Given the description of an element on the screen output the (x, y) to click on. 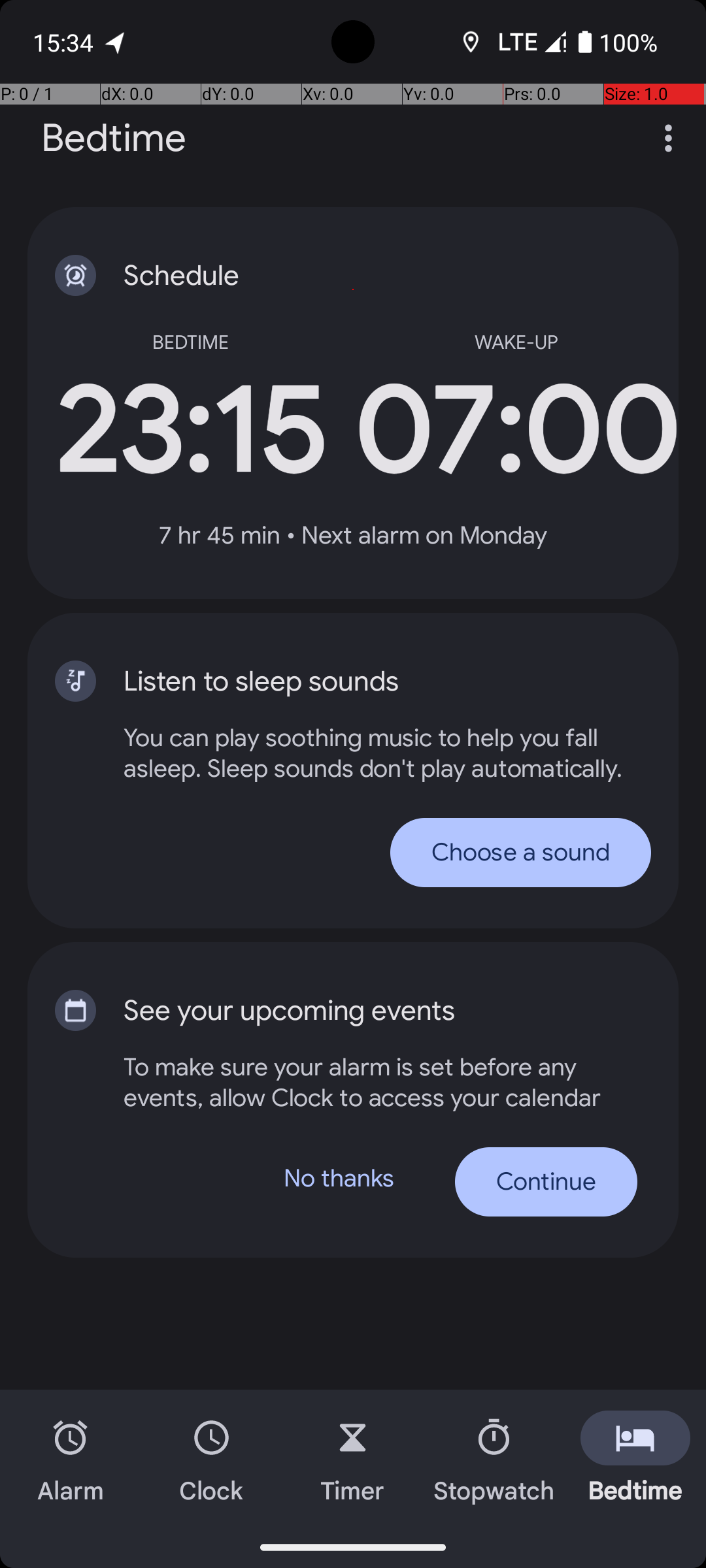
Schedule Element type: android.widget.TextView (359, 275)
23:15 Element type: android.widget.TextView (190, 430)
07:00 Element type: android.widget.TextView (515, 430)
7 hr 45 min • Next alarm on Monday Element type: android.widget.TextView (352, 535)
Listen to sleep sounds Element type: android.widget.TextView (359, 681)
You can play soothing music to help you fall asleep. Sleep sounds don't play automatically. Element type: android.widget.TextView (387, 753)
Choose a sound Element type: android.widget.Button (520, 852)
See your upcoming events Element type: android.widget.TextView (359, 1010)
To make sure your alarm is set before any events, allow Clock to access your calendar Element type: android.widget.TextView (380, 1082)
Continue Element type: android.widget.Button (545, 1181)
